Given the description of an element on the screen output the (x, y) to click on. 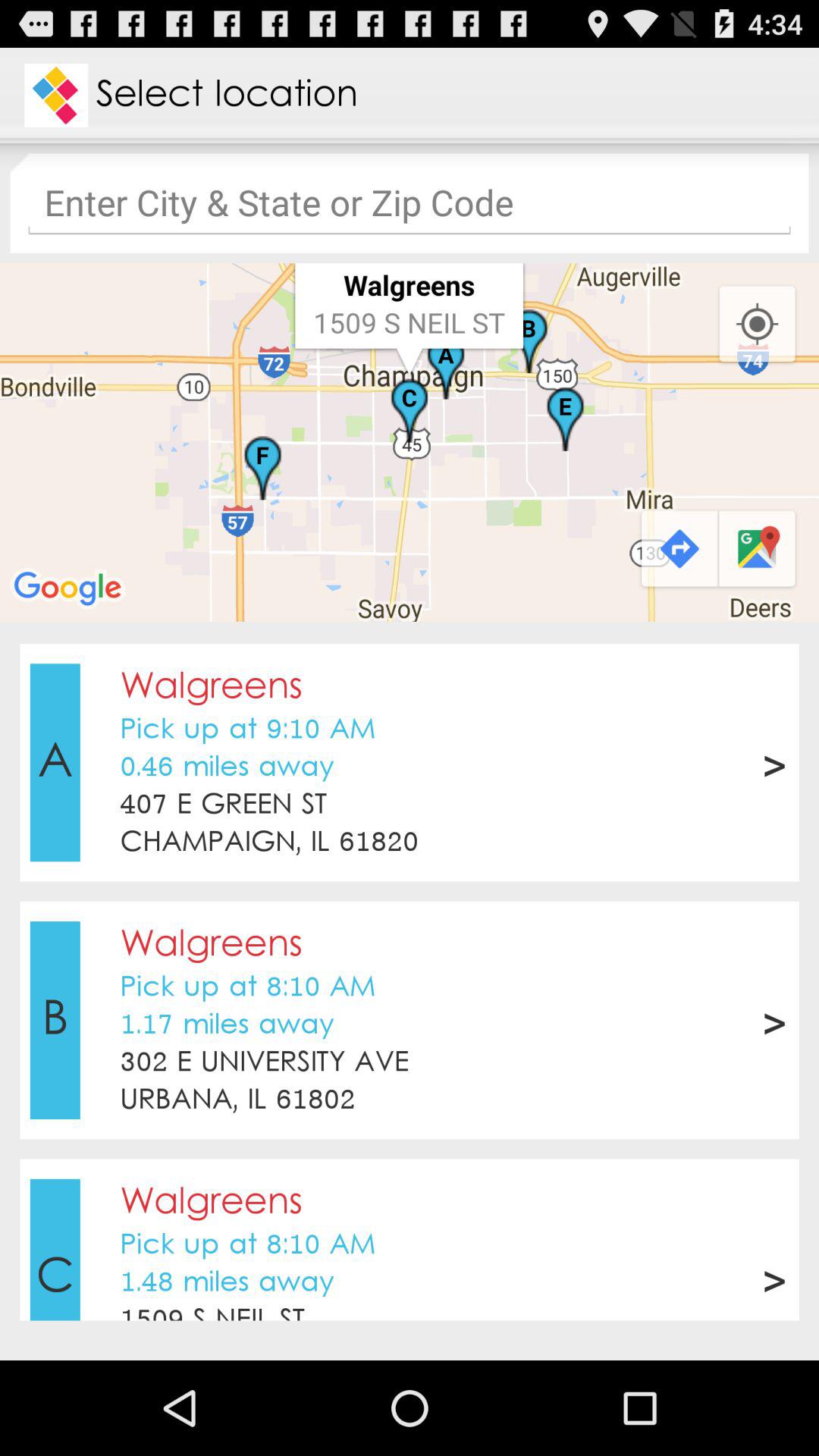
turn on the > item (773, 1277)
